Given the description of an element on the screen output the (x, y) to click on. 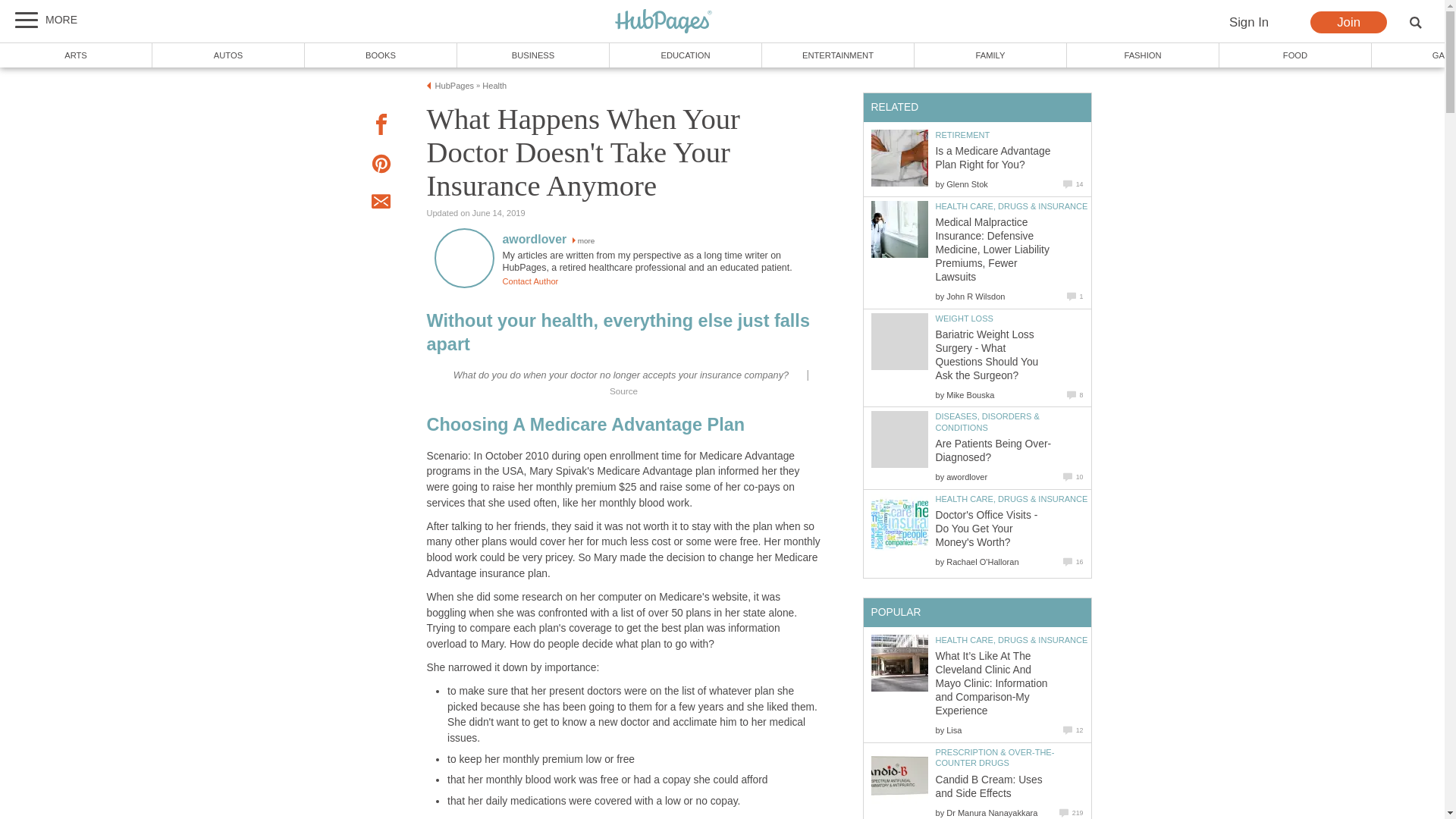
Is a Medicare Advantage Plan Right for You? (898, 157)
FOOD (1295, 55)
BUSINESS (533, 55)
FAMILY (990, 55)
RETIREMENT (963, 134)
EDUCATION (685, 55)
FASHION (1143, 55)
AUTOS (228, 55)
Contact Author (529, 280)
Candid B Cream: Uses and Side Effects (898, 774)
